Given the description of an element on the screen output the (x, y) to click on. 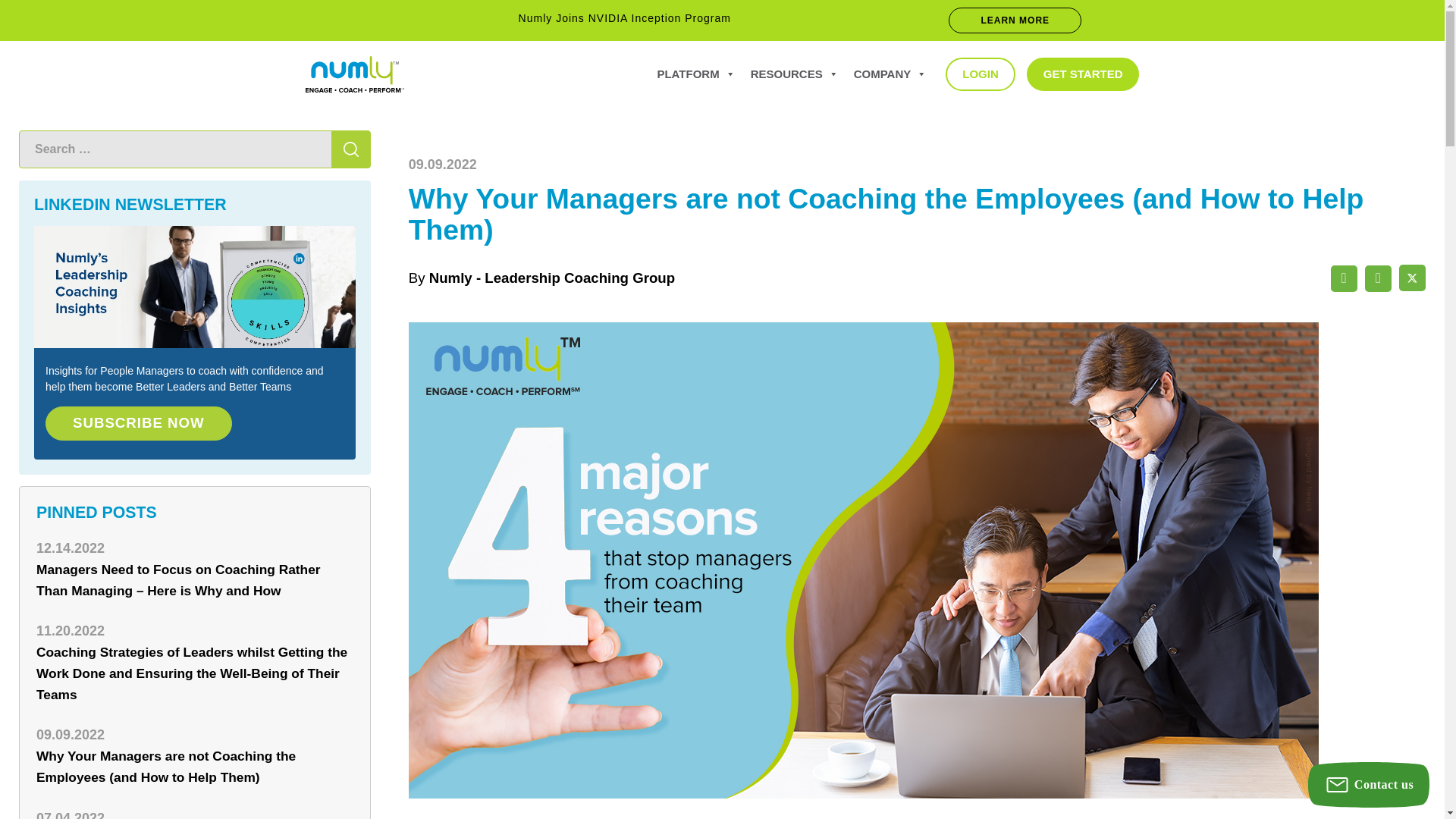
Search (351, 149)
PLATFORM (695, 73)
Search (351, 149)
RESOURCES (793, 73)
LEARN MORE (1015, 20)
